Given the description of an element on the screen output the (x, y) to click on. 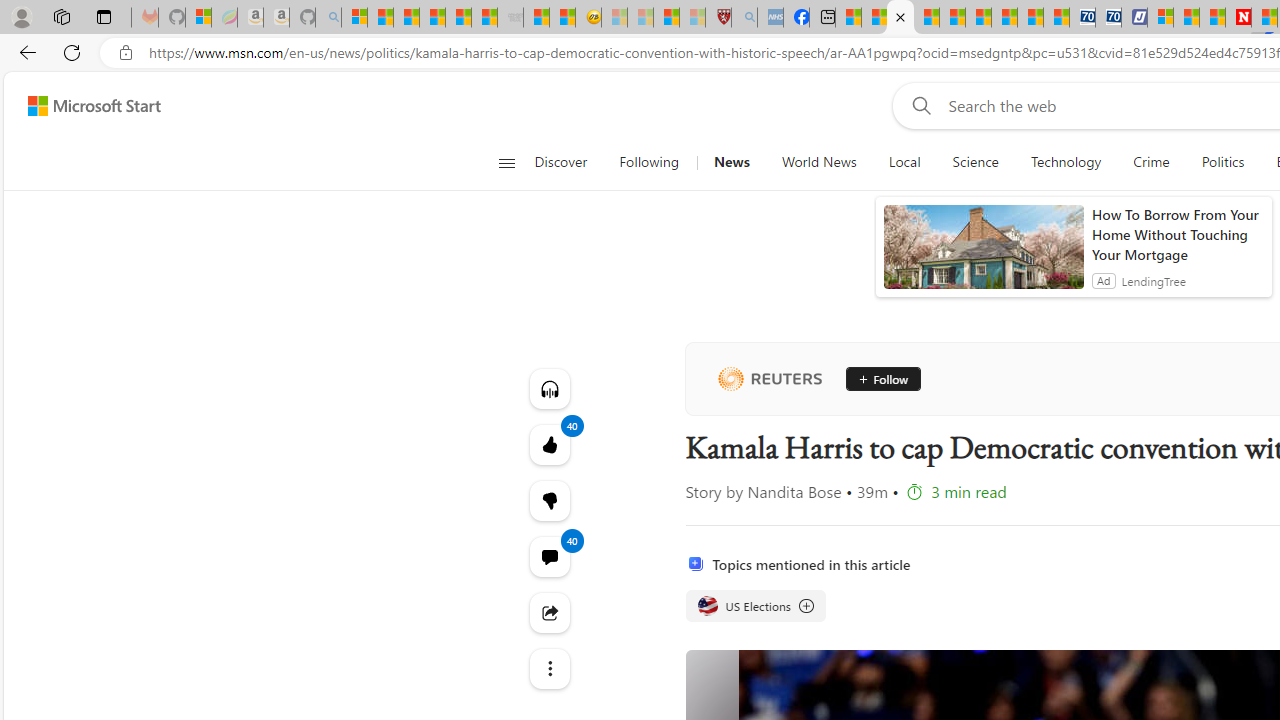
Reuters (769, 378)
